Given the description of an element on the screen output the (x, y) to click on. 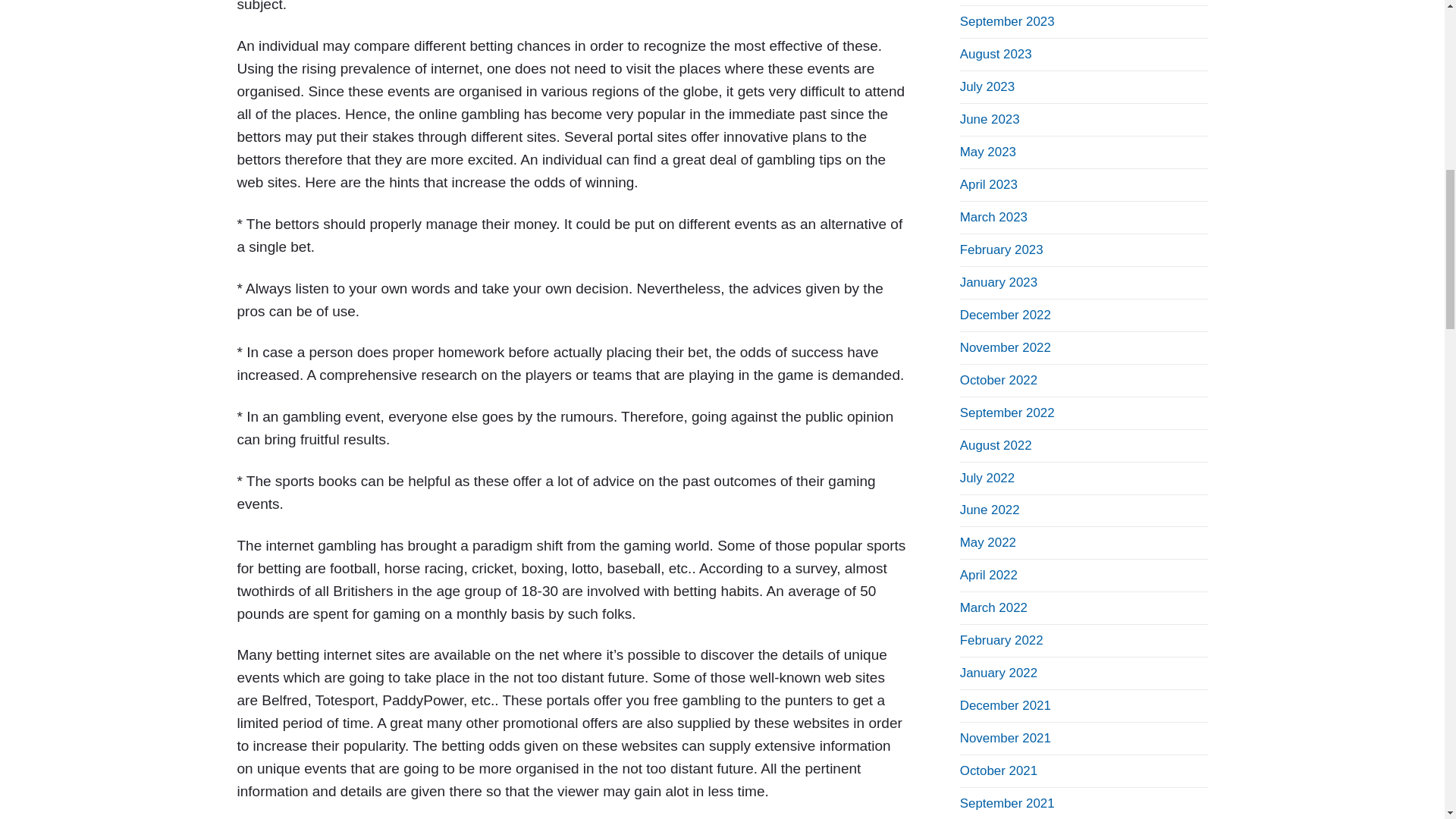
July 2023 (986, 86)
August 2023 (995, 53)
March 2023 (993, 216)
June 2023 (989, 119)
February 2023 (1001, 249)
May 2023 (987, 151)
September 2023 (1006, 21)
April 2023 (988, 184)
